Given the description of an element on the screen output the (x, y) to click on. 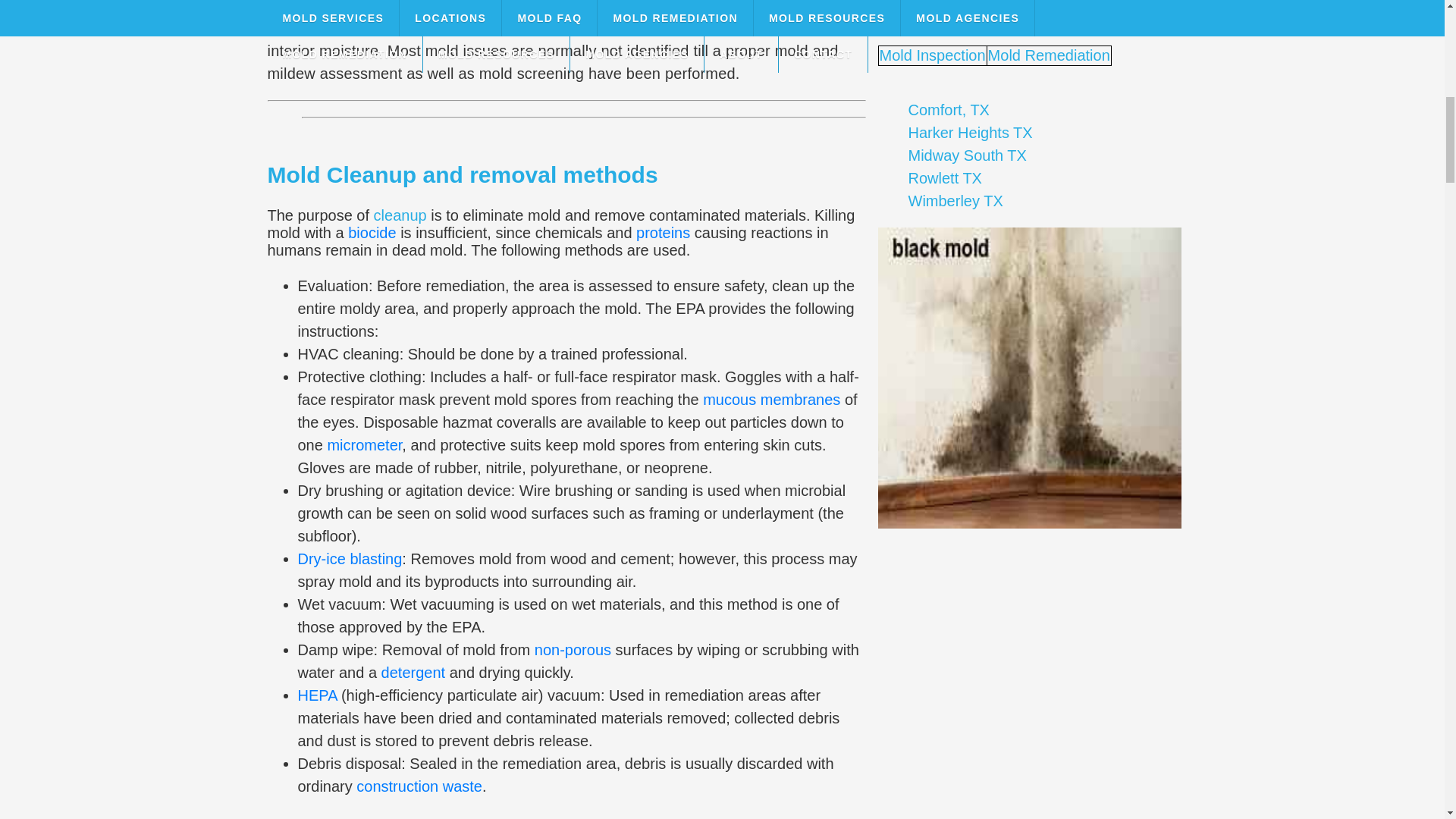
Mucous membrane (771, 399)
Construction waste (418, 786)
Biocide (371, 232)
Micrometre (363, 444)
Dry-ice blasting (349, 558)
Porosity (572, 649)
Protein (663, 232)
HEPA (316, 695)
Detergent (413, 672)
